Given the description of an element on the screen output the (x, y) to click on. 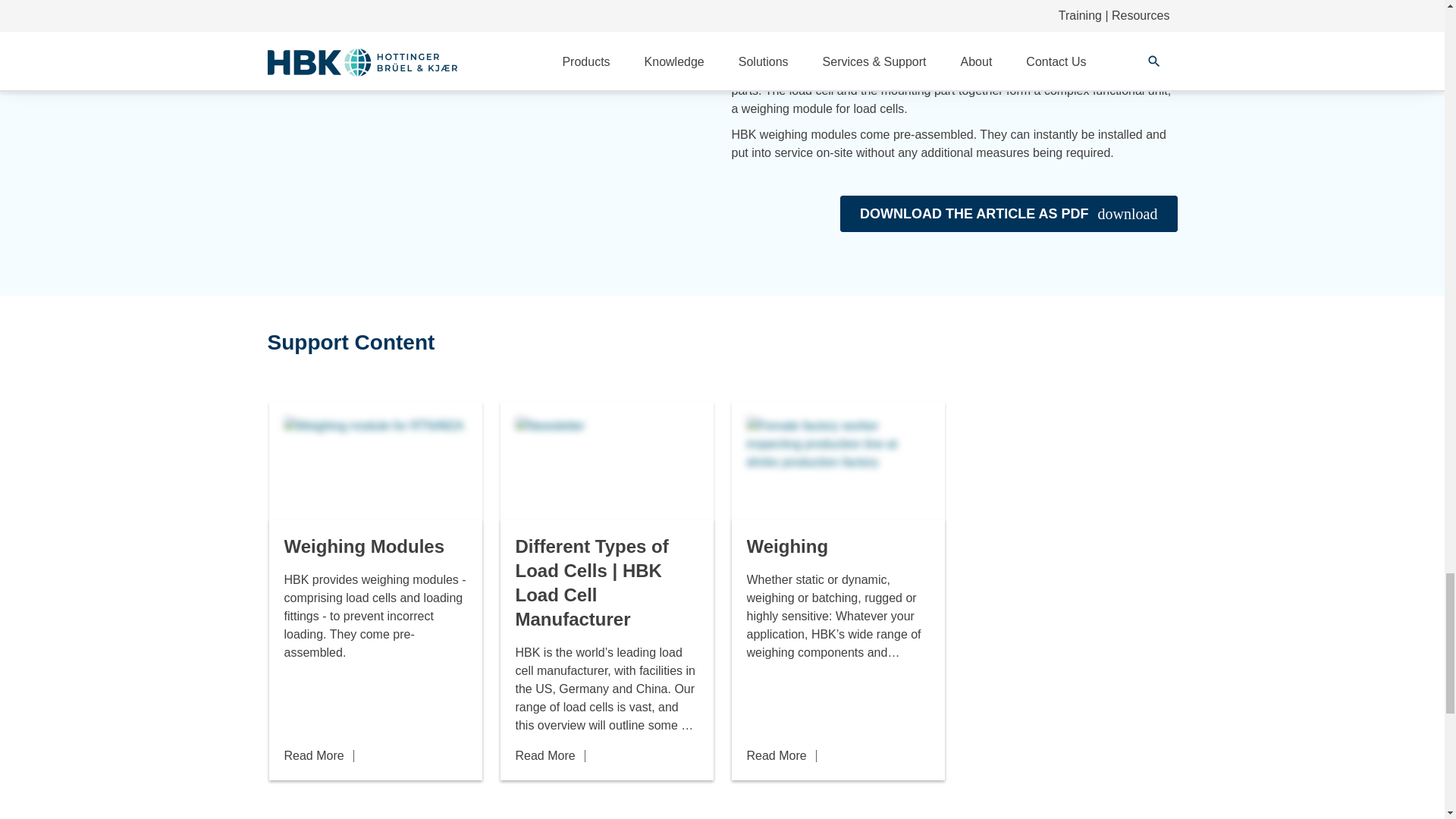
load cells and accessories (606, 468)
Our solutions - weighing (836, 468)
